Given the description of an element on the screen output the (x, y) to click on. 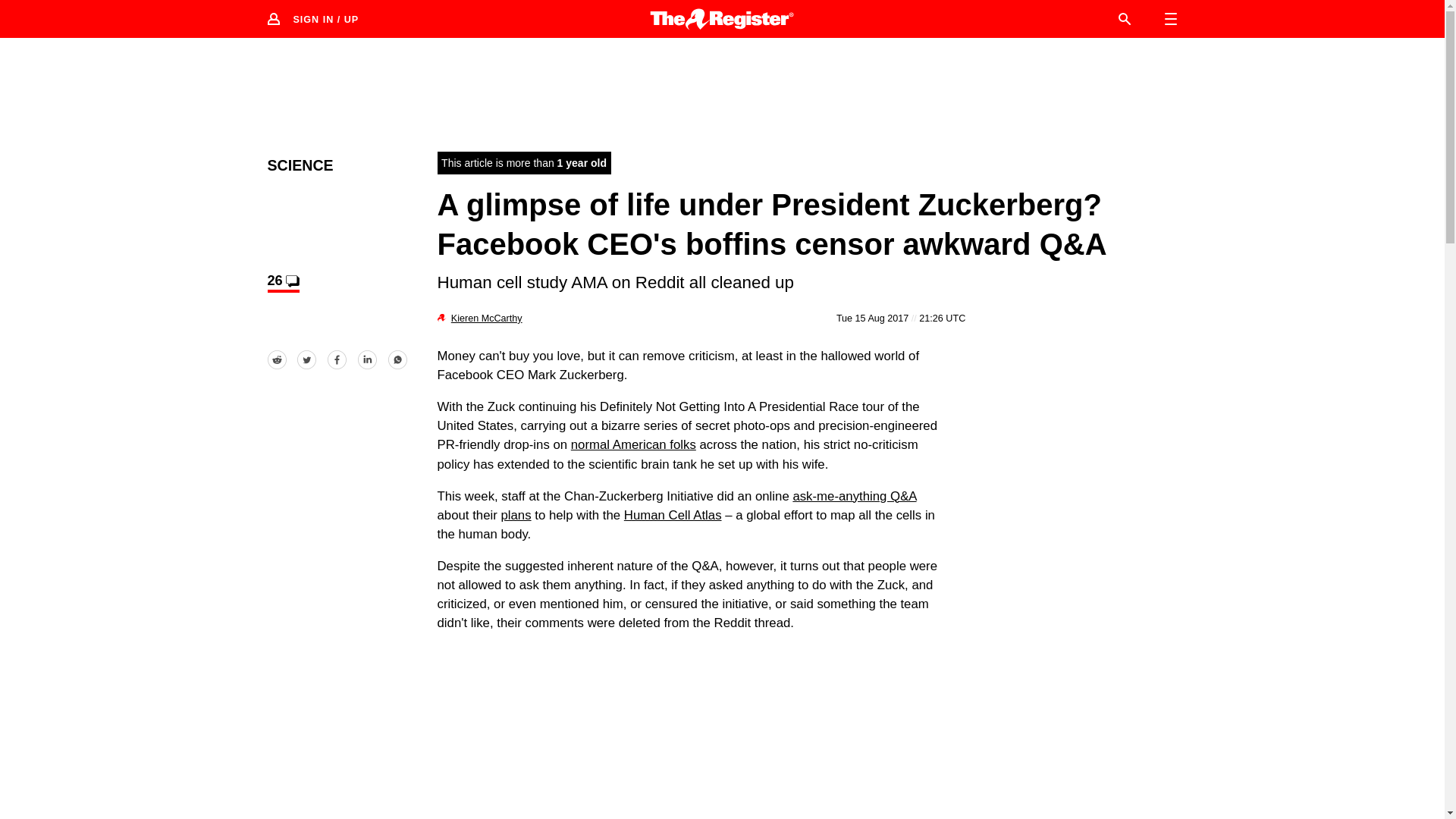
View comments on this article (282, 282)
Read more by this author (486, 318)
